Given the description of an element on the screen output the (x, y) to click on. 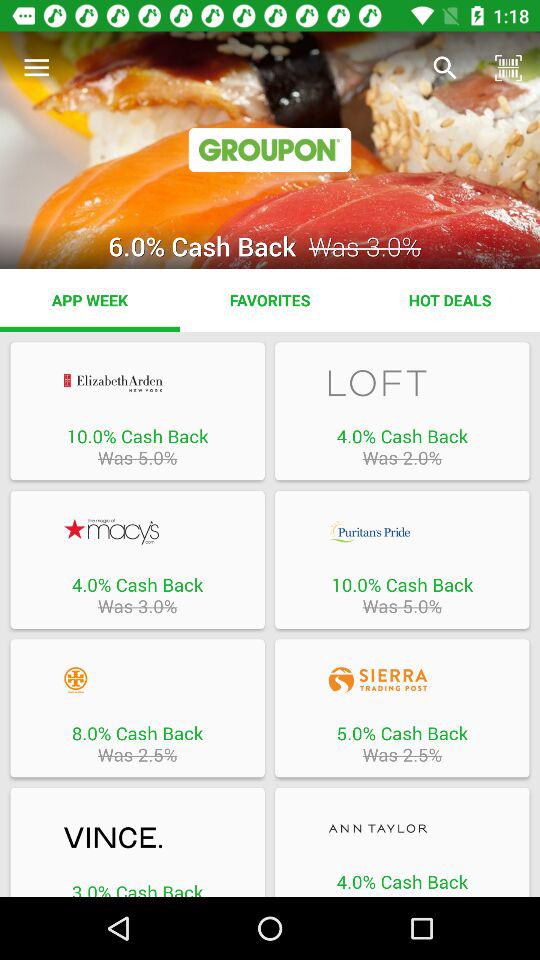
select elizabeth arden option (137, 382)
